Given the description of an element on the screen output the (x, y) to click on. 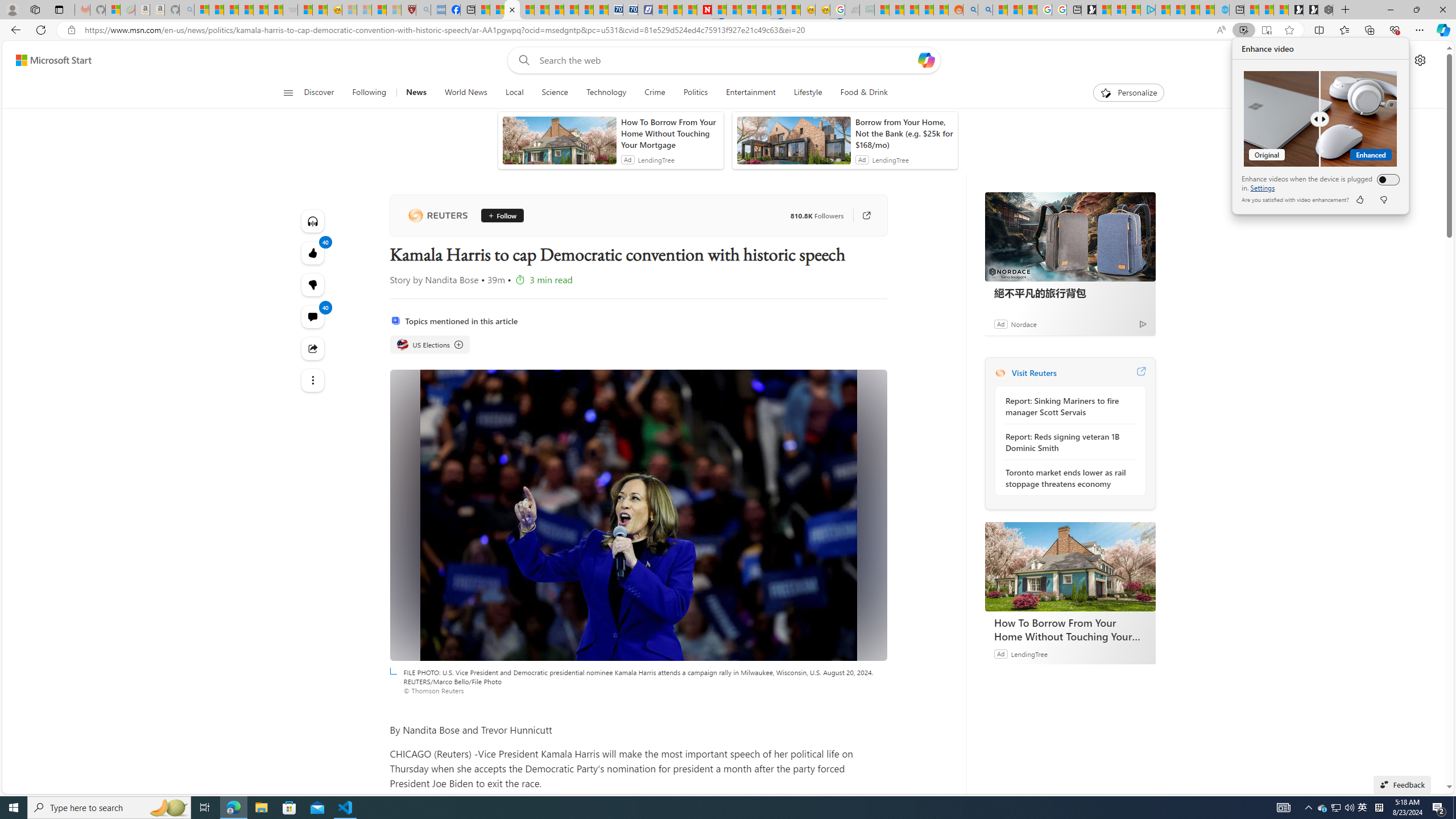
US Elections (430, 344)
Listen to this article (312, 220)
US Elections (401, 344)
